Given the description of an element on the screen output the (x, y) to click on. 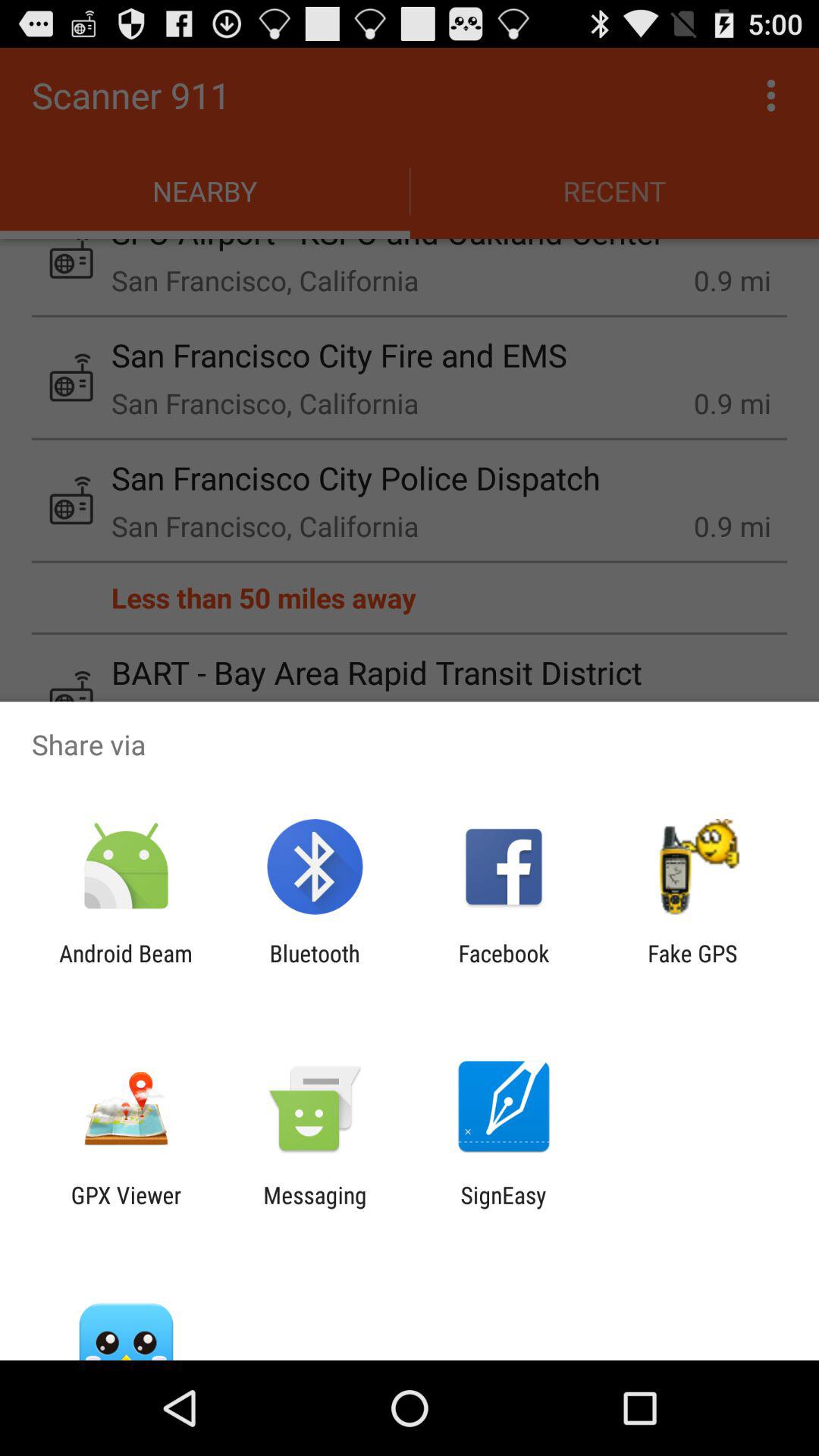
turn on the item to the left of bluetooth item (125, 966)
